Given the description of an element on the screen output the (x, y) to click on. 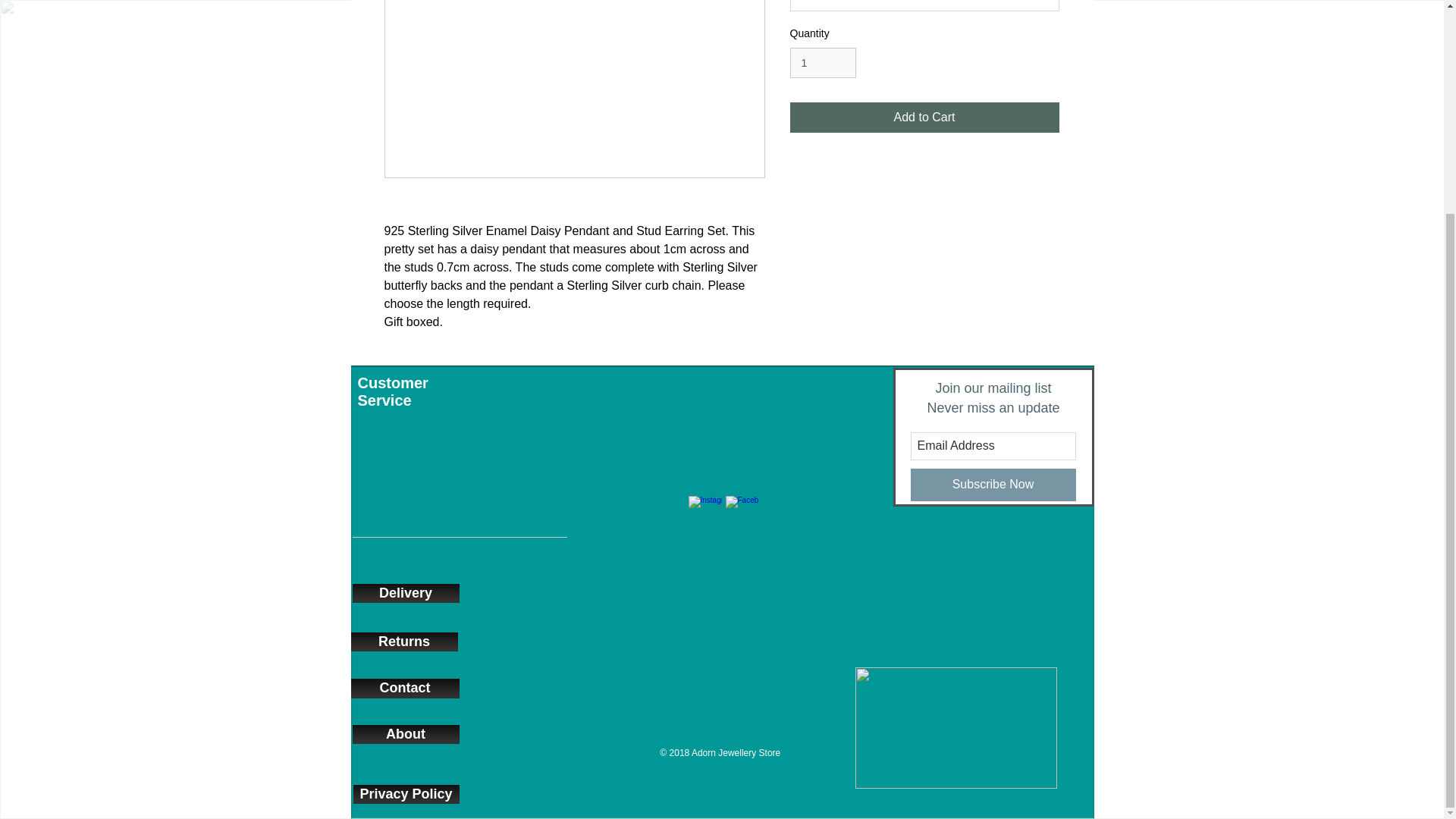
Contact (404, 688)
Subscribe Now (992, 484)
Returns (403, 641)
1 (823, 62)
Select (924, 5)
About (405, 733)
Add to Cart (924, 117)
Privacy Policy (406, 793)
Delivery (405, 592)
